Given the description of an element on the screen output the (x, y) to click on. 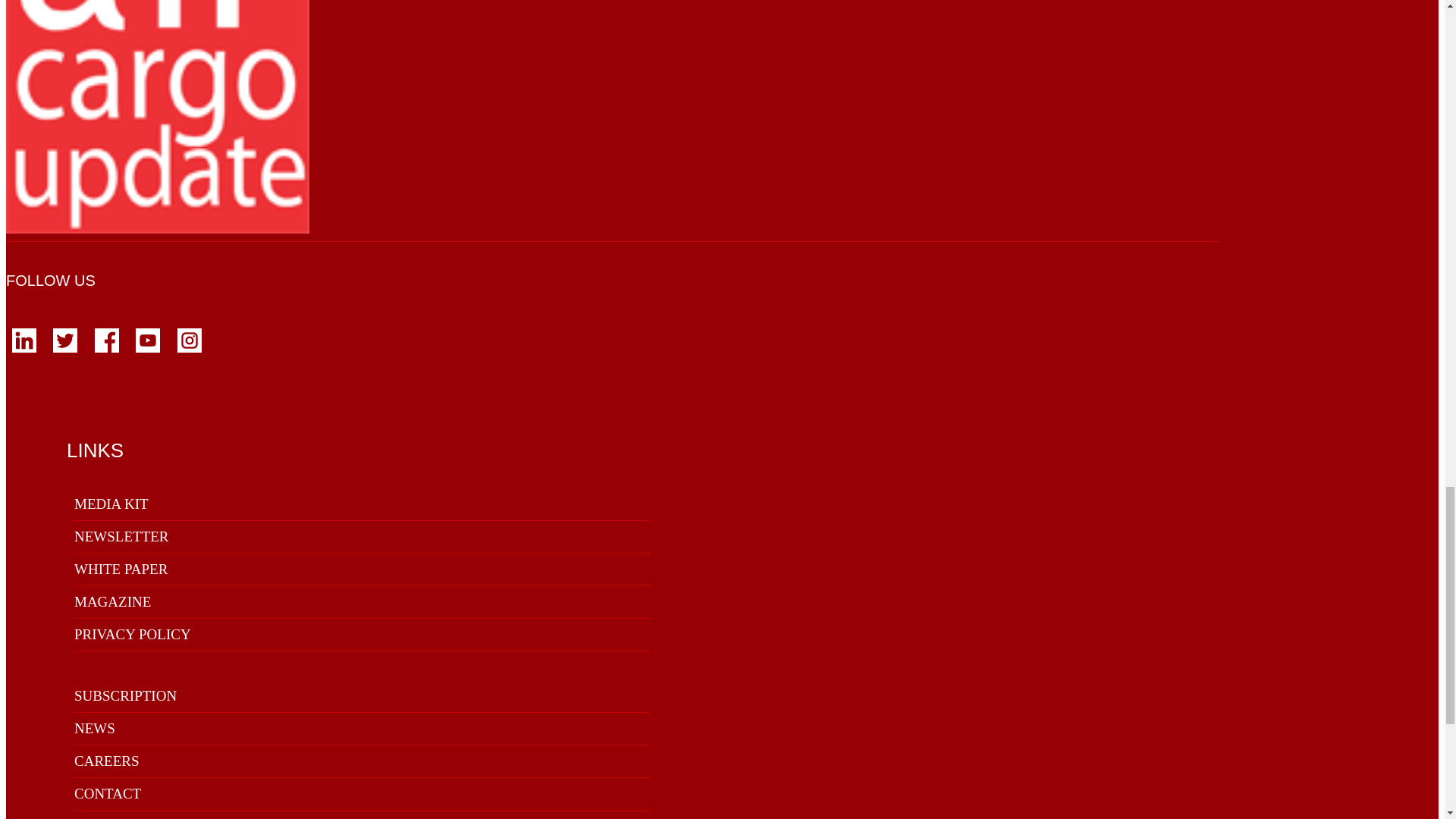
CONTACT (107, 793)
WHITE PAPER (120, 569)
MEDIA KIT (111, 503)
SUBSCRIPTION (125, 695)
NEWS (94, 728)
NEWSLETTER (121, 536)
MAGAZINE (112, 601)
CAREERS (106, 760)
PRIVACY POLICY (132, 634)
